Given the description of an element on the screen output the (x, y) to click on. 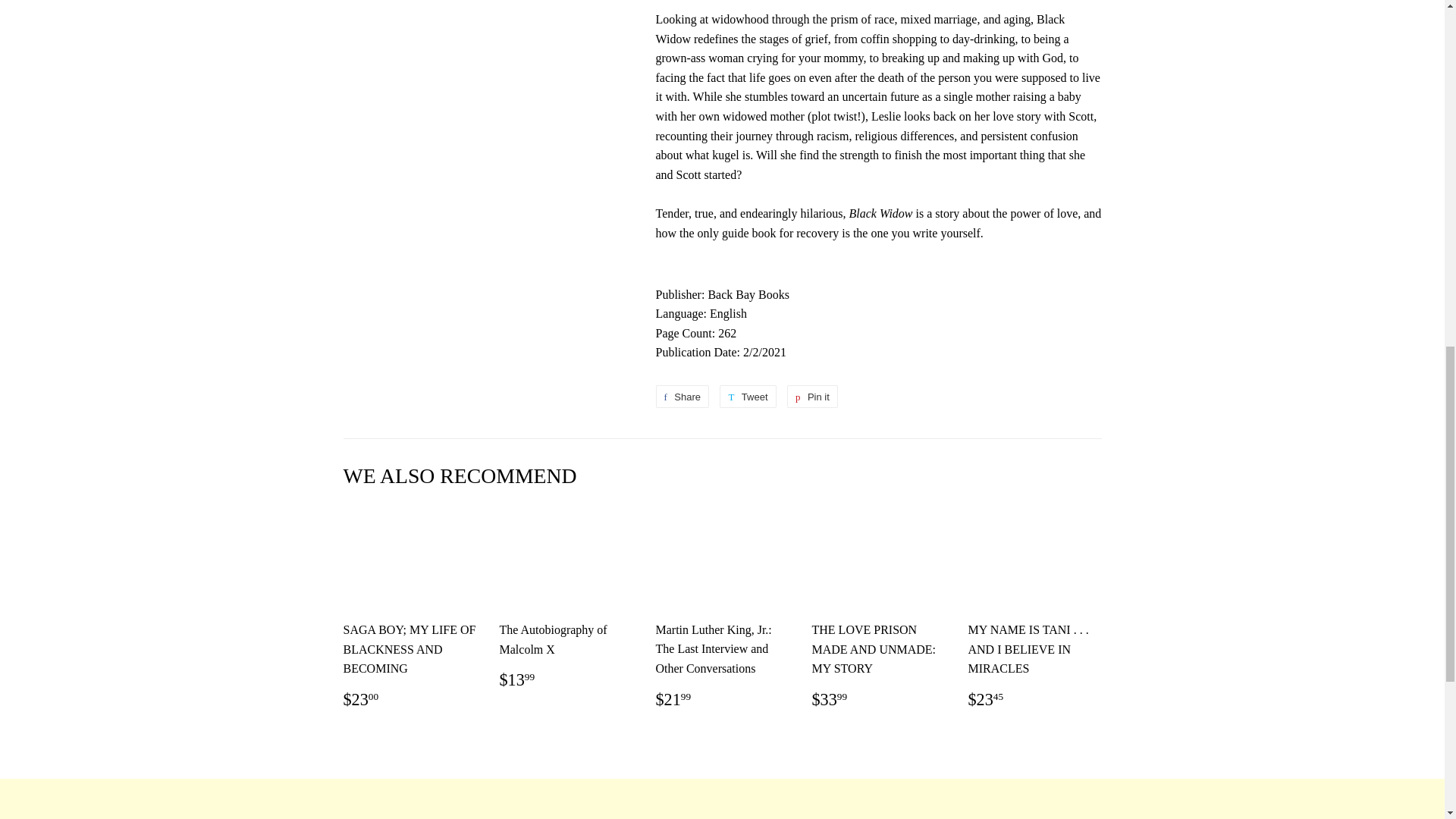
Tweet on Twitter (747, 395)
Pin on Pinterest (812, 395)
Share on Facebook (682, 395)
